Given the description of an element on the screen output the (x, y) to click on. 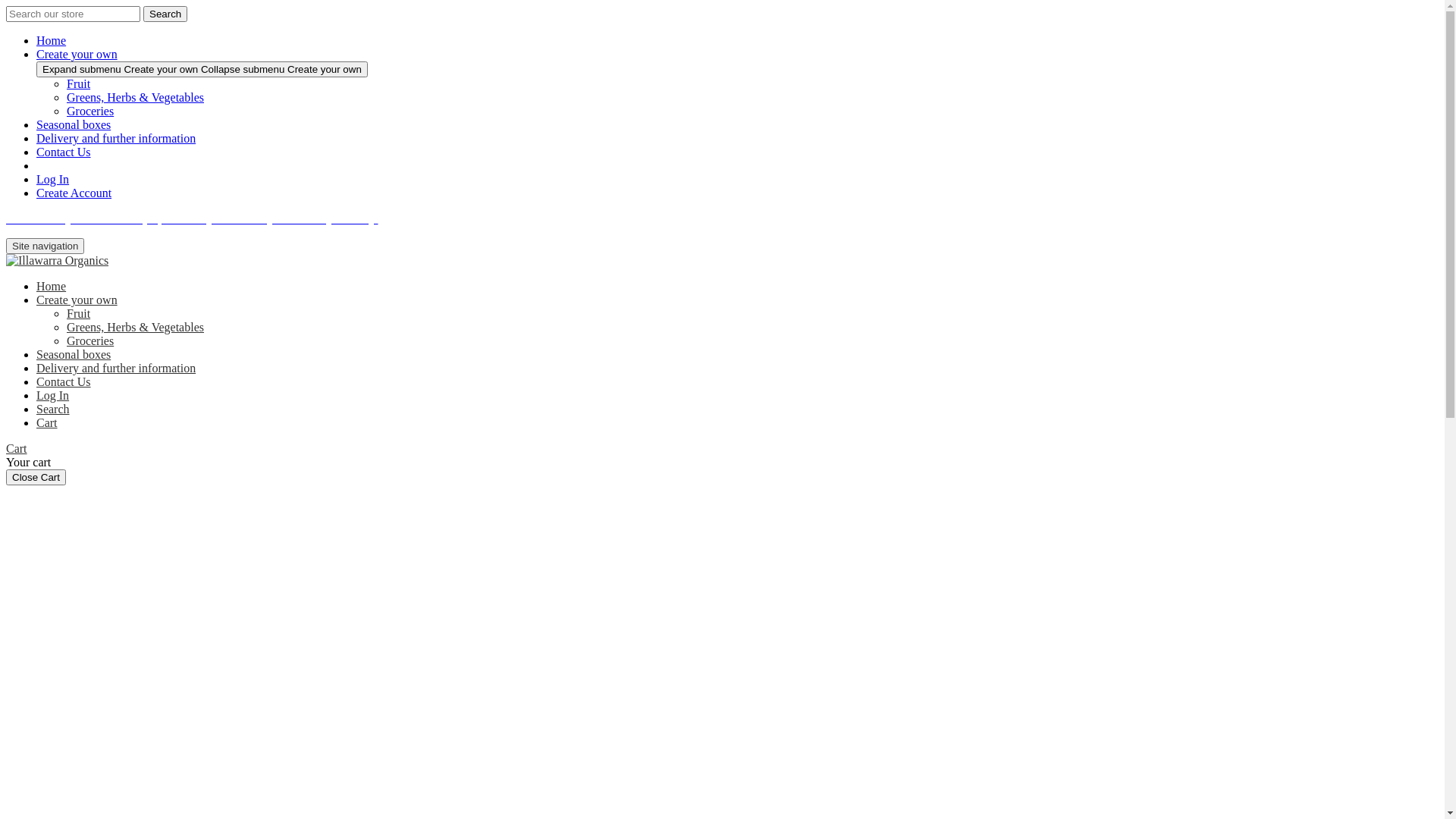
Cart Element type: text (16, 448)
Fruit Element type: text (78, 83)
Groceries Element type: text (89, 340)
Create your own Element type: text (76, 53)
Search Element type: text (165, 13)
Delivery and further information Element type: text (115, 137)
Log In Element type: text (52, 395)
Fruit Element type: text (78, 313)
Create your own Element type: text (76, 299)
Create Account Element type: text (73, 192)
Site navigation Element type: text (45, 246)
Contact Us Element type: text (63, 151)
Seasonal boxes Element type: text (73, 354)
Log In Element type: text (52, 178)
Greens, Herbs & Vegetables Element type: text (134, 326)
Greens, Herbs & Vegetables Element type: text (134, 97)
Seasonal boxes Element type: text (73, 124)
Search Element type: text (52, 408)
Contact Us Element type: text (63, 381)
Delivery and further information Element type: text (115, 367)
Cart Element type: text (46, 422)
Close Cart Element type: text (35, 477)
Groceries Element type: text (89, 110)
Home Element type: text (50, 285)
Home Element type: text (50, 40)
